Given the description of an element on the screen output the (x, y) to click on. 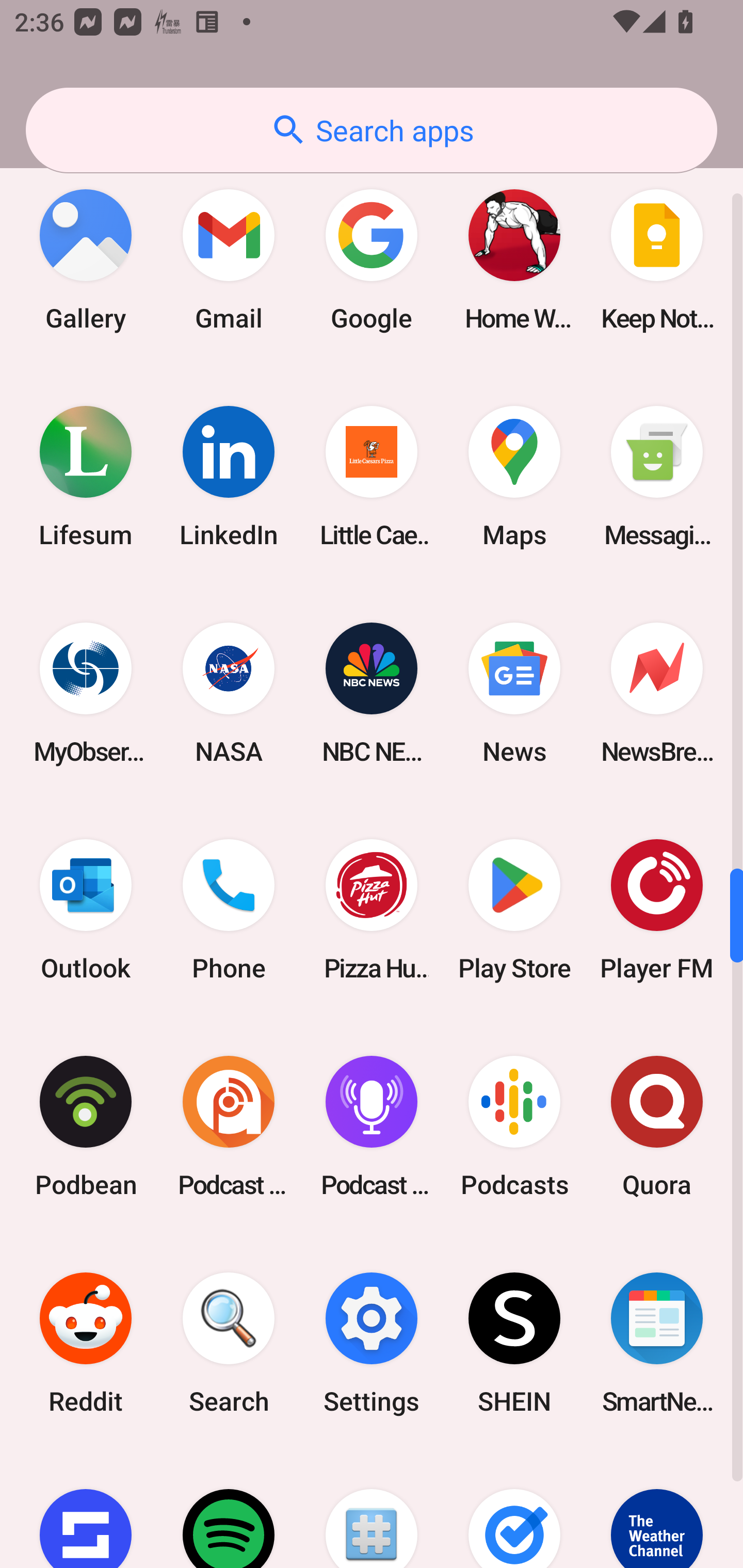
  Search apps (371, 130)
Gallery (85, 260)
Gmail (228, 260)
Google (371, 260)
Home Workout (514, 260)
Keep Notes (656, 260)
Lifesum (85, 476)
LinkedIn (228, 476)
Little Caesars Pizza (371, 476)
Maps (514, 476)
Messaging (656, 476)
MyObservatory (85, 692)
NASA (228, 692)
NBC NEWS (371, 692)
News (514, 692)
NewsBreak (656, 692)
Outlook (85, 909)
Phone (228, 909)
Pizza Hut HK & Macau (371, 909)
Play Store (514, 909)
Player FM (656, 909)
Podbean (85, 1126)
Podcast Addict (228, 1126)
Podcast Player (371, 1126)
Podcasts (514, 1126)
Quora (656, 1126)
Reddit (85, 1343)
Search (228, 1343)
Settings (371, 1343)
SHEIN (514, 1343)
SmartNews (656, 1343)
